Given the description of an element on the screen output the (x, y) to click on. 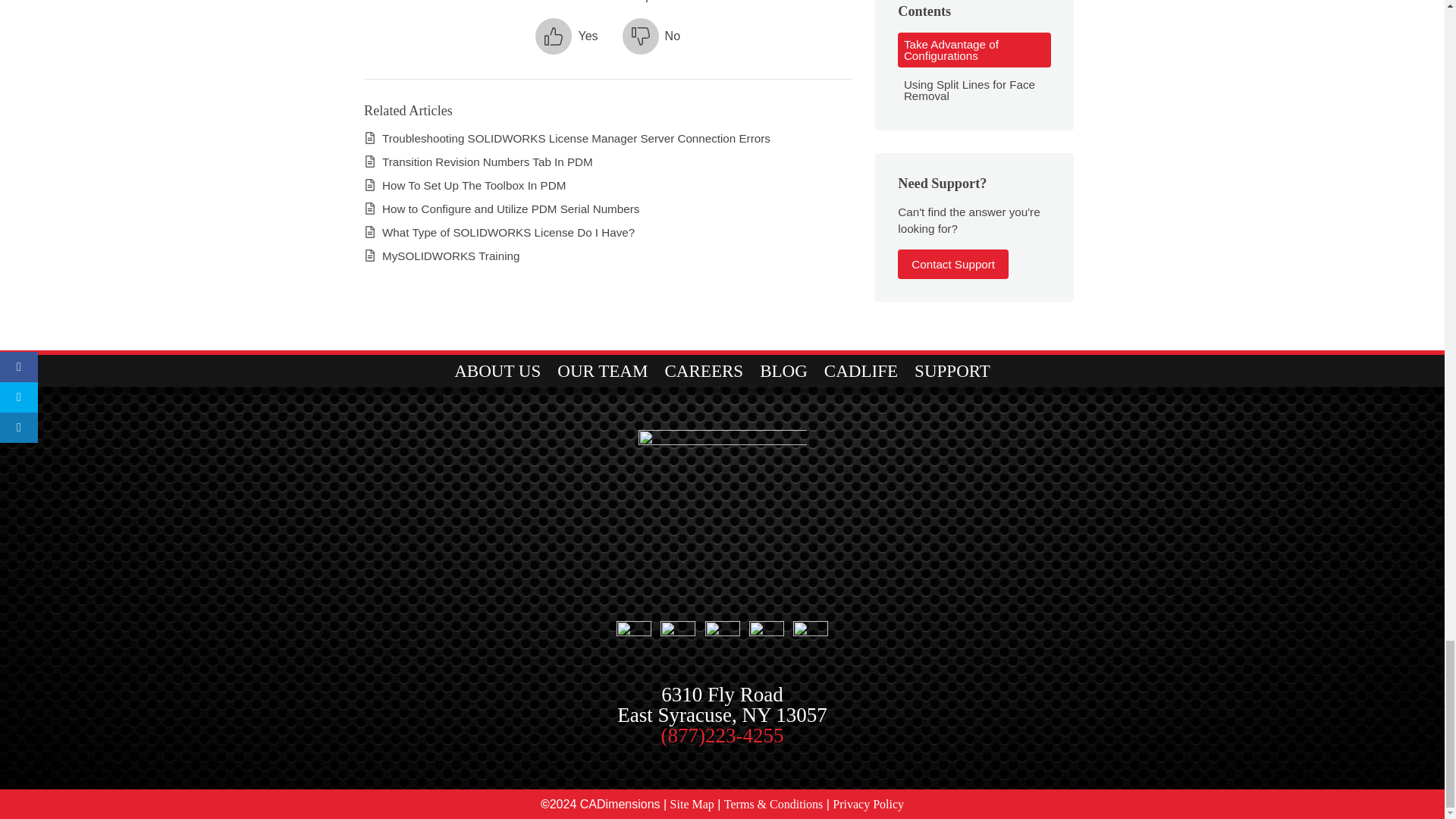
Follow Us on Facebook (632, 631)
View Our Site Map (691, 803)
Subscribe to Our YouTube Channel (810, 631)
cadimensions-stacked-logo (722, 510)
Follow Us on LinkedIn (766, 631)
Call CADimensions Now (722, 734)
Privacy Policy (868, 803)
Follow Us on Twitter (721, 631)
Follow Us on Instagram (678, 631)
